Given the description of an element on the screen output the (x, y) to click on. 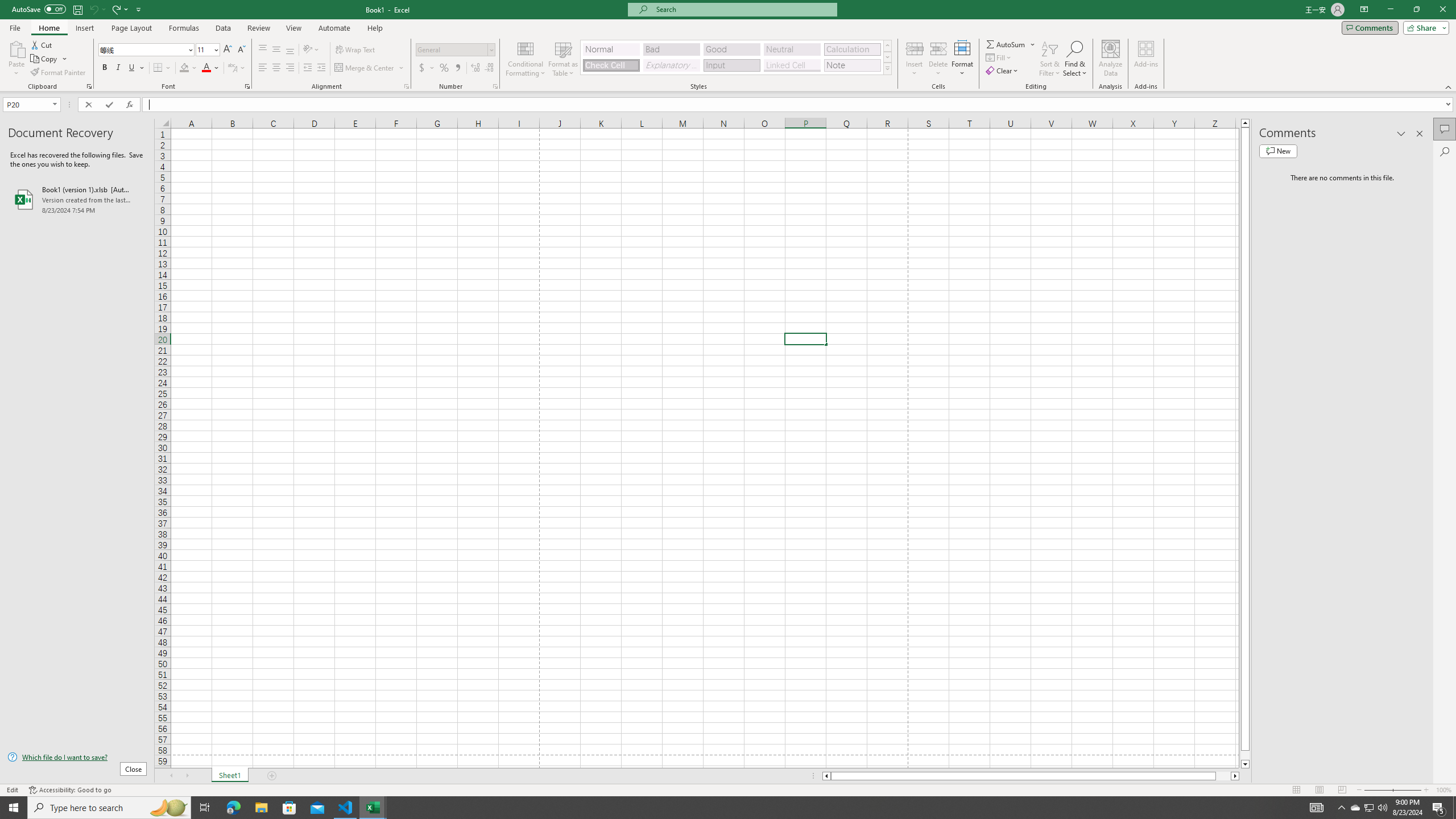
Office Clipboard... (88, 85)
Font Size (204, 49)
Merge & Center (365, 67)
Borders (162, 67)
Format Painter (58, 72)
Check Cell (611, 65)
Font Size (207, 49)
Delete (938, 58)
Calculation (852, 49)
Explanatory Text (671, 65)
